Given the description of an element on the screen output the (x, y) to click on. 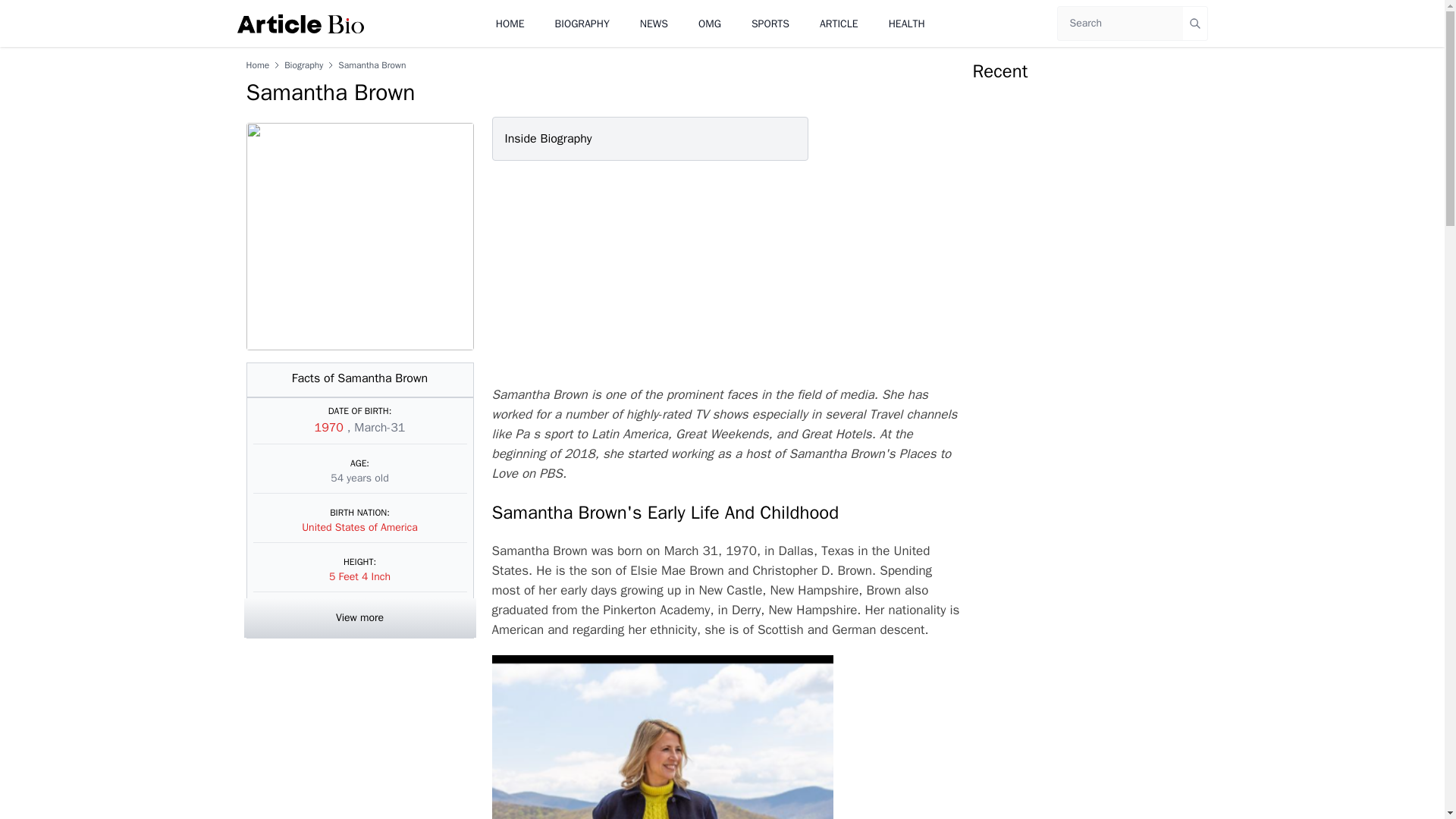
SPORTS (770, 23)
HEALTH (906, 23)
Biography (303, 64)
March-31 (378, 427)
1970 (330, 427)
Advertisement (721, 273)
United States of America (359, 526)
BIOGRAPHY (582, 23)
ARTICLE (839, 23)
NEWS (654, 23)
